Given the description of an element on the screen output the (x, y) to click on. 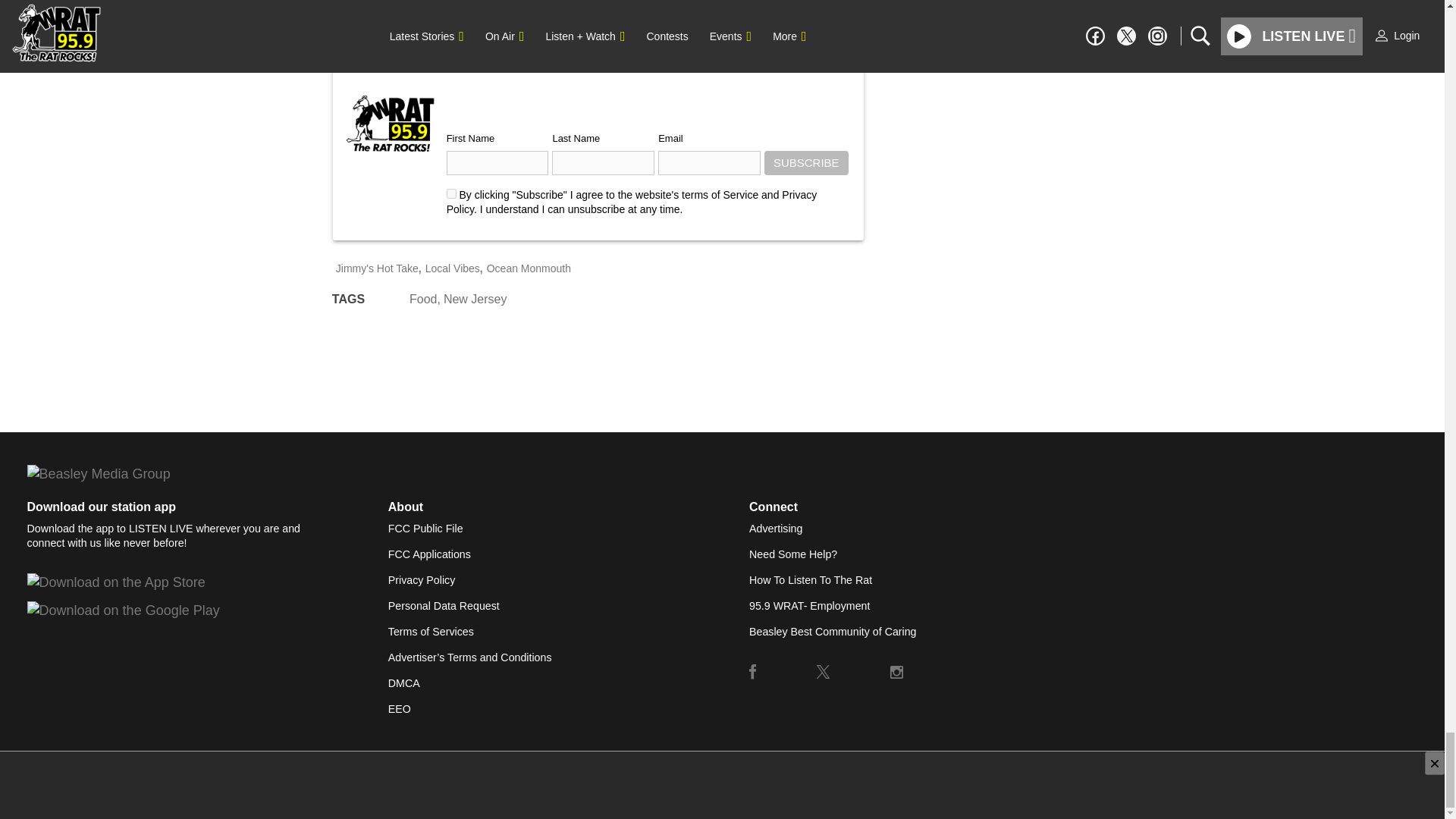
Instagram (895, 671)
Twitter (823, 671)
on (451, 194)
